Given the description of an element on the screen output the (x, y) to click on. 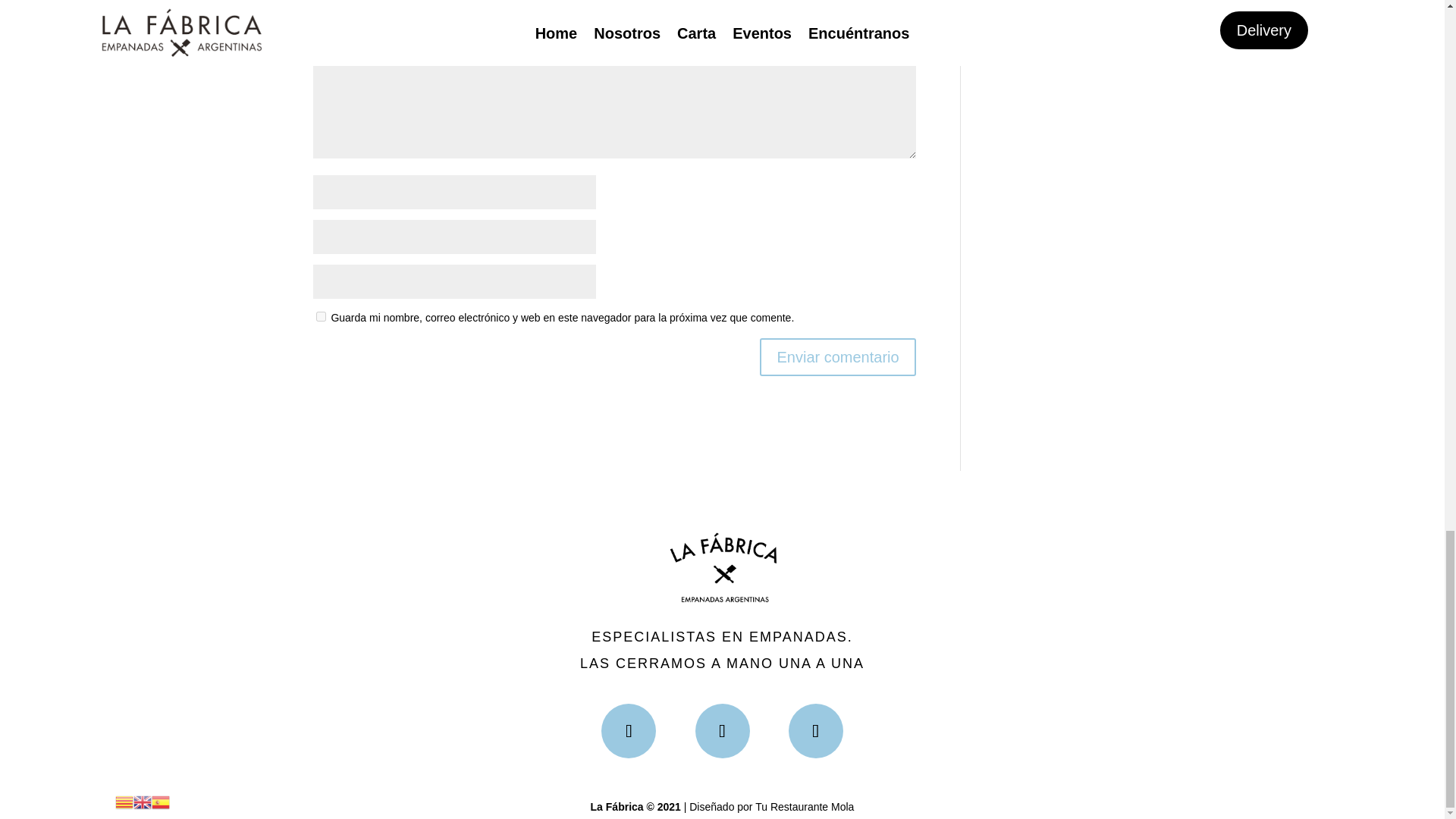
Enviar comentario (837, 356)
Tu Restaurante Mola (804, 806)
Seguir en Facebook (628, 730)
Enviar comentario (837, 356)
yes (319, 316)
Seguir en RSS (816, 730)
Seguir en Instagram (721, 730)
